Given the description of an element on the screen output the (x, y) to click on. 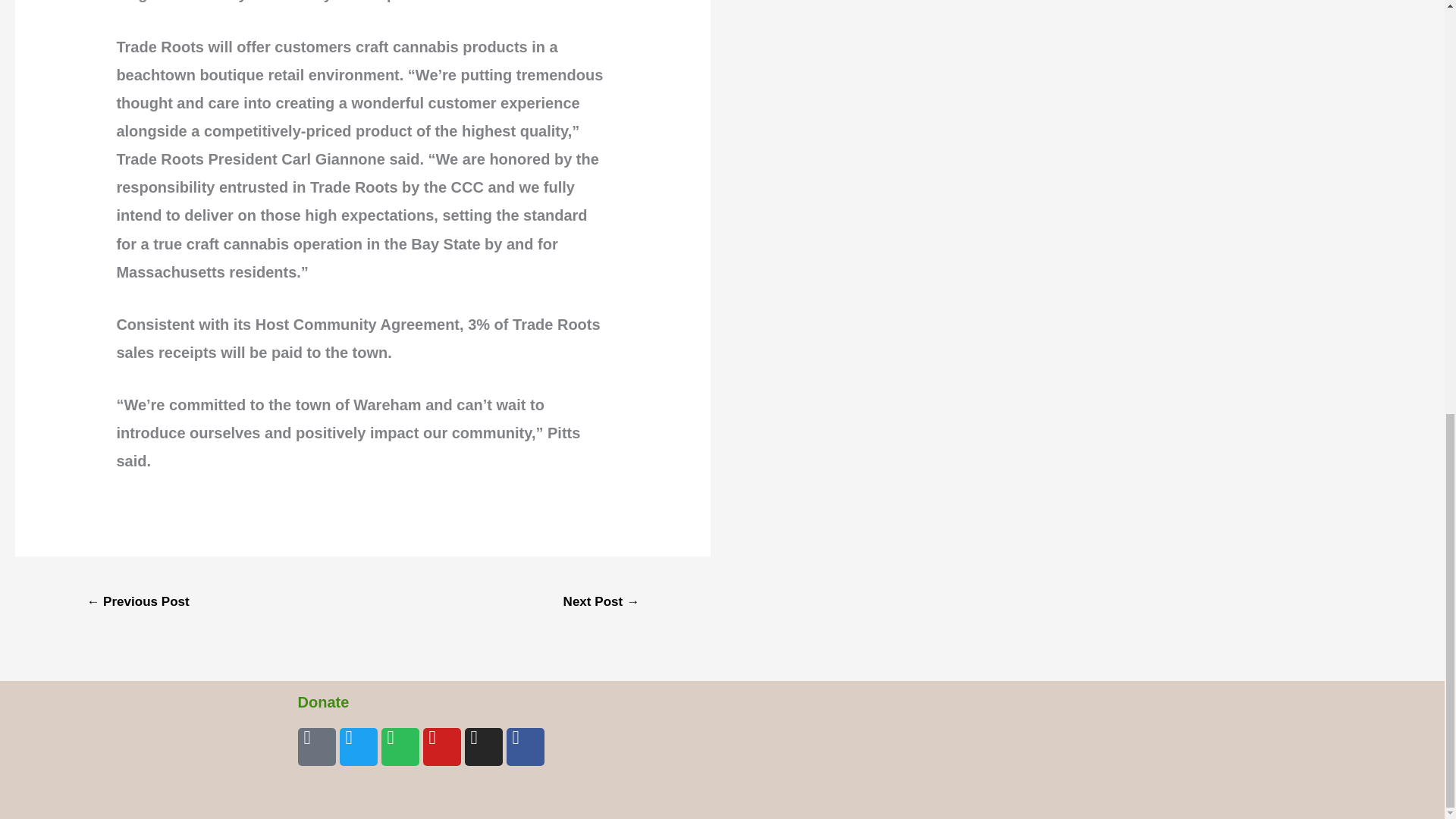
Donate (323, 701)
